Given the description of an element on the screen output the (x, y) to click on. 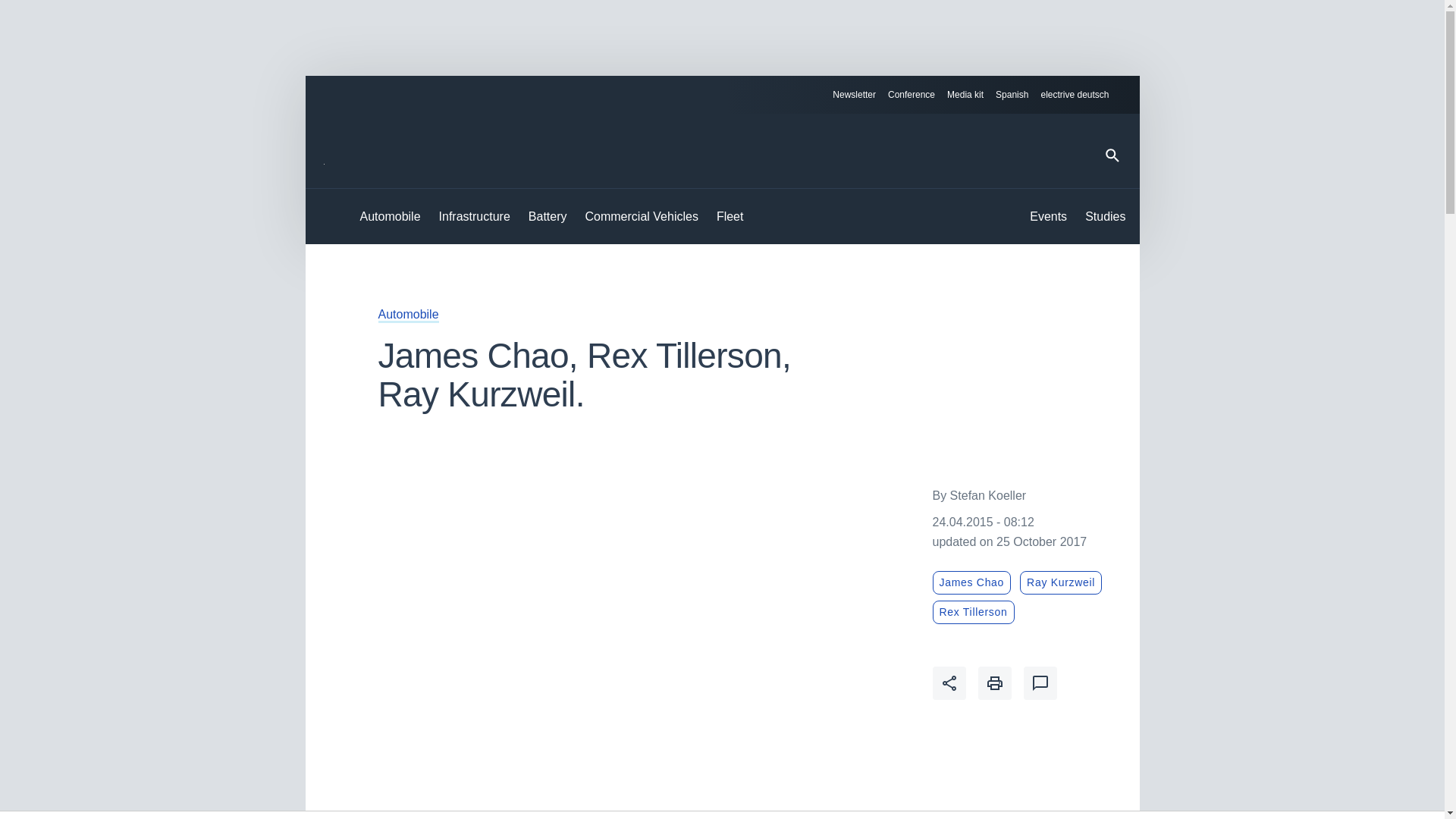
Commercial Vehicles (641, 217)
Battery (547, 217)
Newsletter (854, 95)
Teilen (949, 683)
Spanish (1011, 94)
Conference (911, 95)
Rex Tillerson (973, 612)
Automobile (407, 314)
Drucken (994, 683)
James Chao (972, 582)
